Given the description of an element on the screen output the (x, y) to click on. 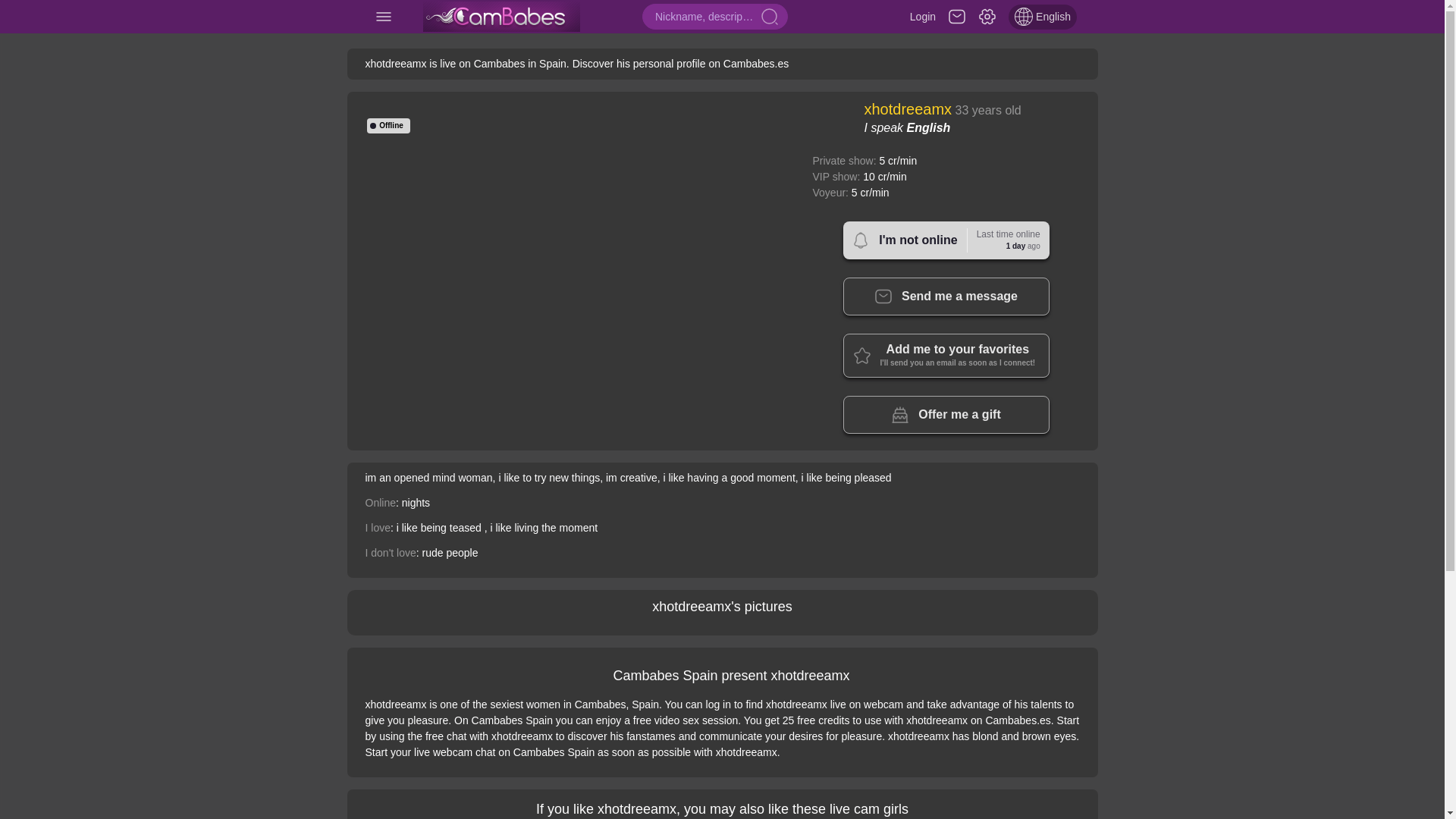
See all girls (946, 240)
Offer me a gift (501, 16)
Send me a message (946, 414)
